Given the description of an element on the screen output the (x, y) to click on. 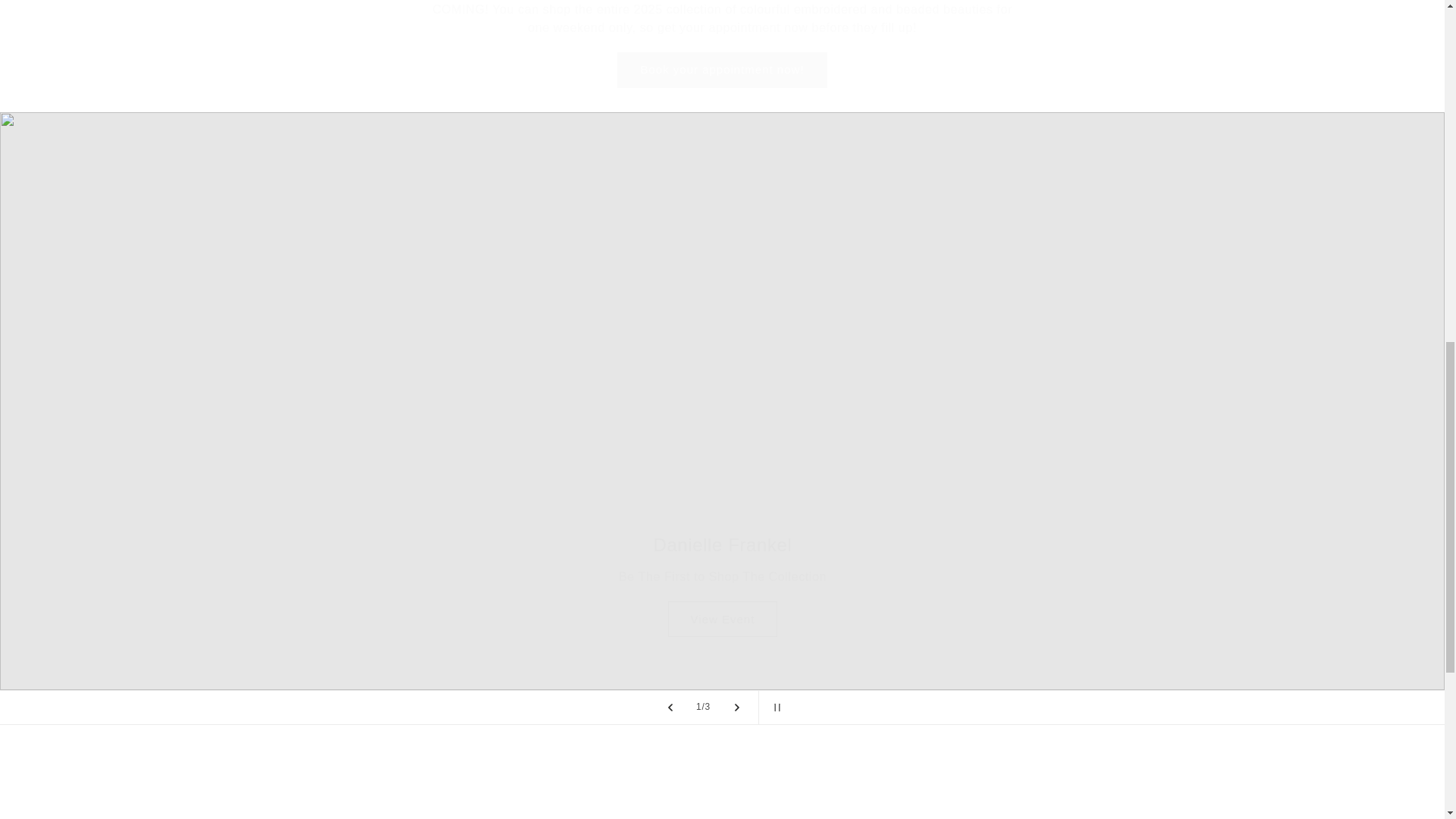
Book your appointment now! (722, 68)
